Given the description of an element on the screen output the (x, y) to click on. 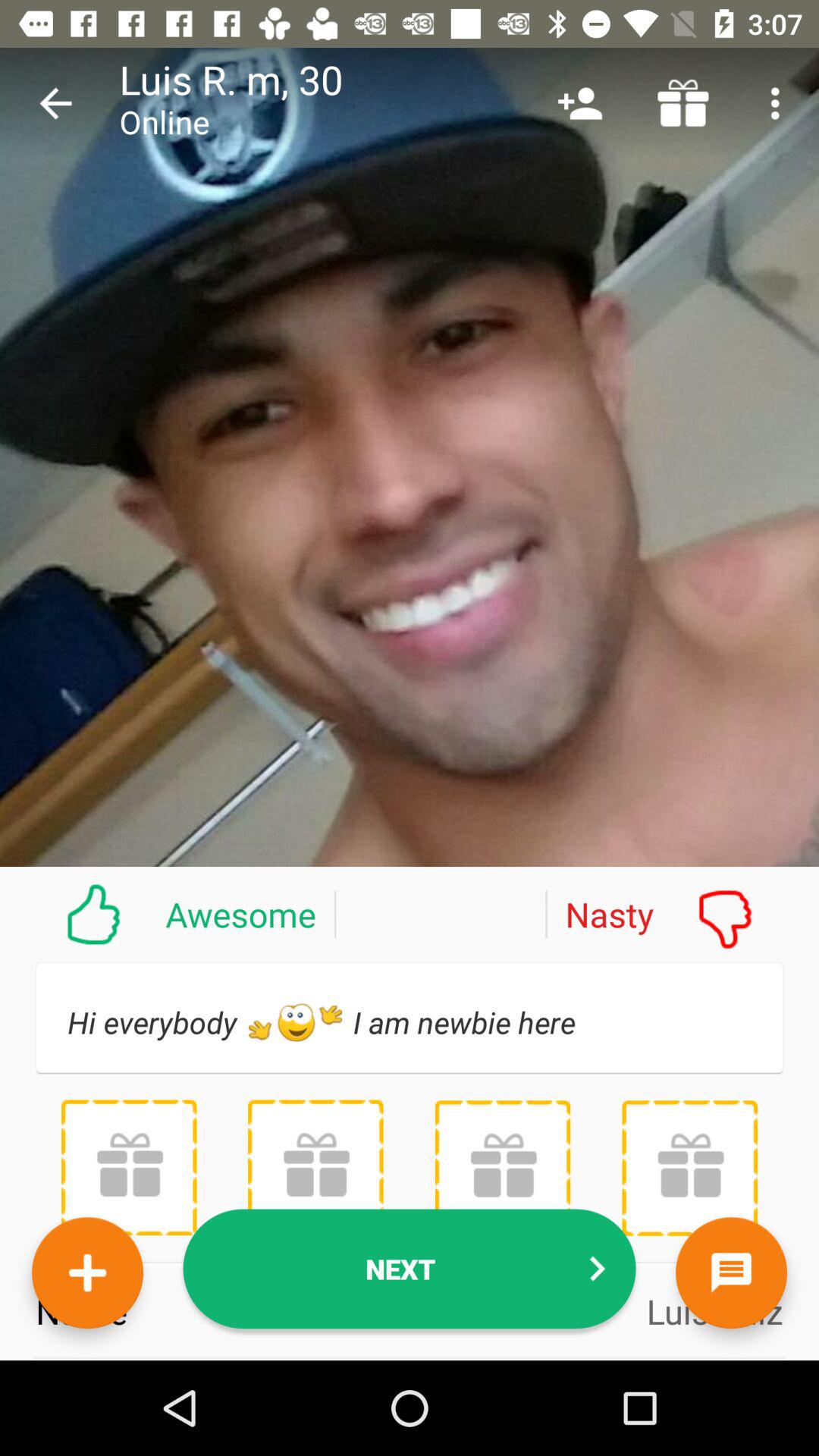
add new friend (87, 1272)
